Given the description of an element on the screen output the (x, y) to click on. 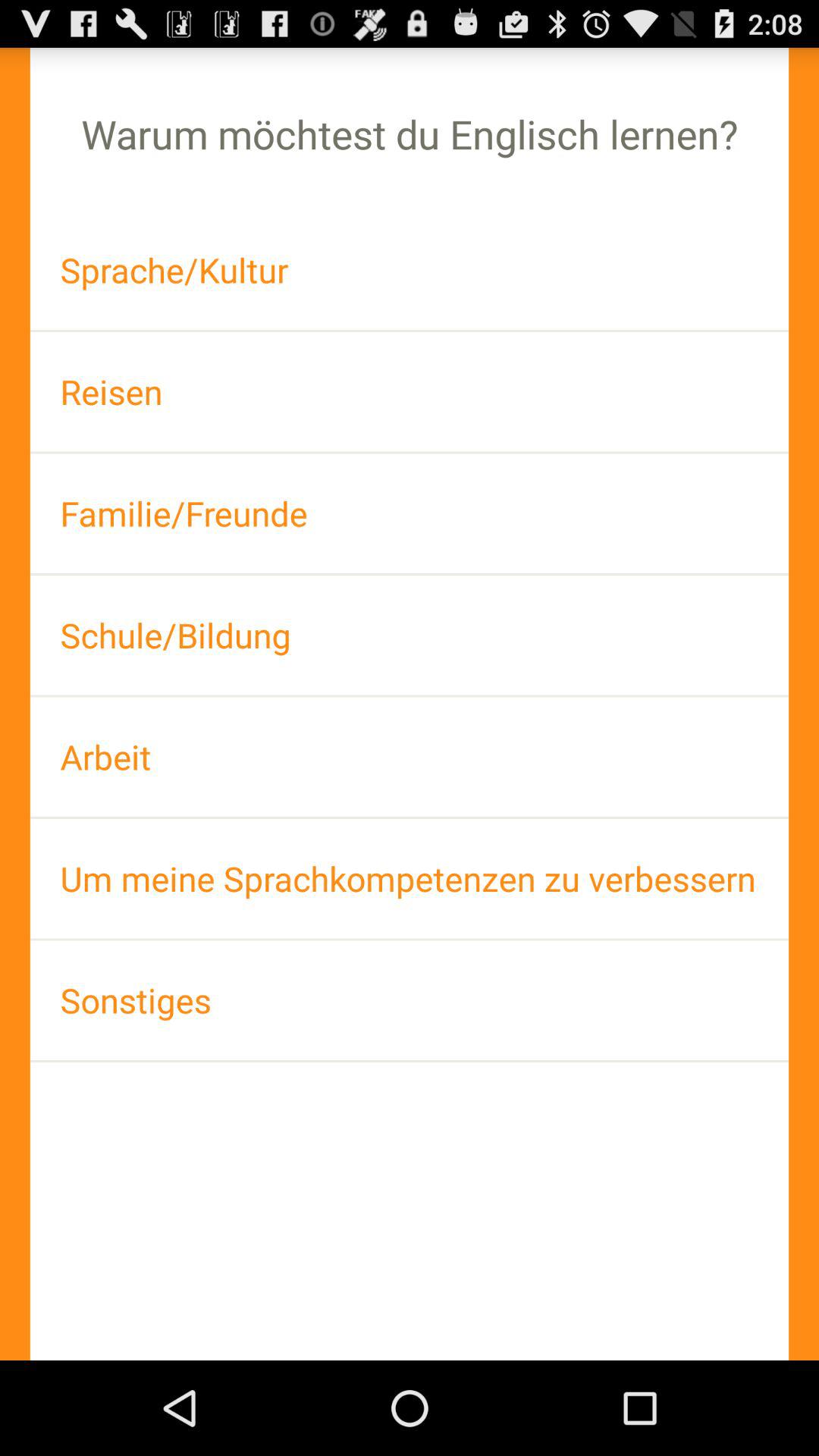
flip until the sonstiges app (409, 1000)
